Given the description of an element on the screen output the (x, y) to click on. 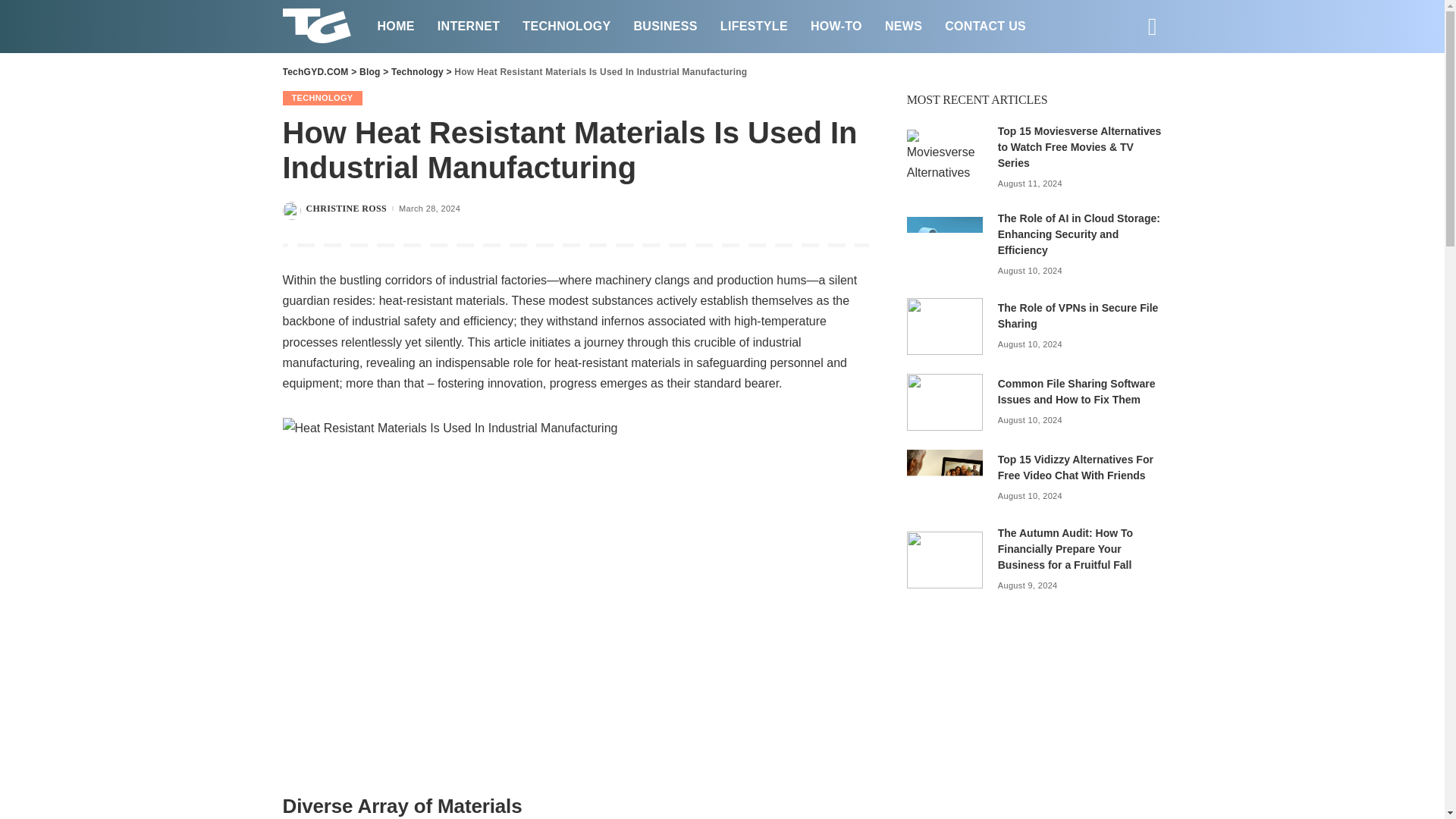
Go to Blog. (369, 71)
Go to the Technology Category archives. (417, 71)
HOME (395, 26)
Go to TechGYD.COM. (314, 71)
TECHNOLOGY (566, 26)
TechGYD.COM (317, 26)
INTERNET (469, 26)
